Given the description of an element on the screen output the (x, y) to click on. 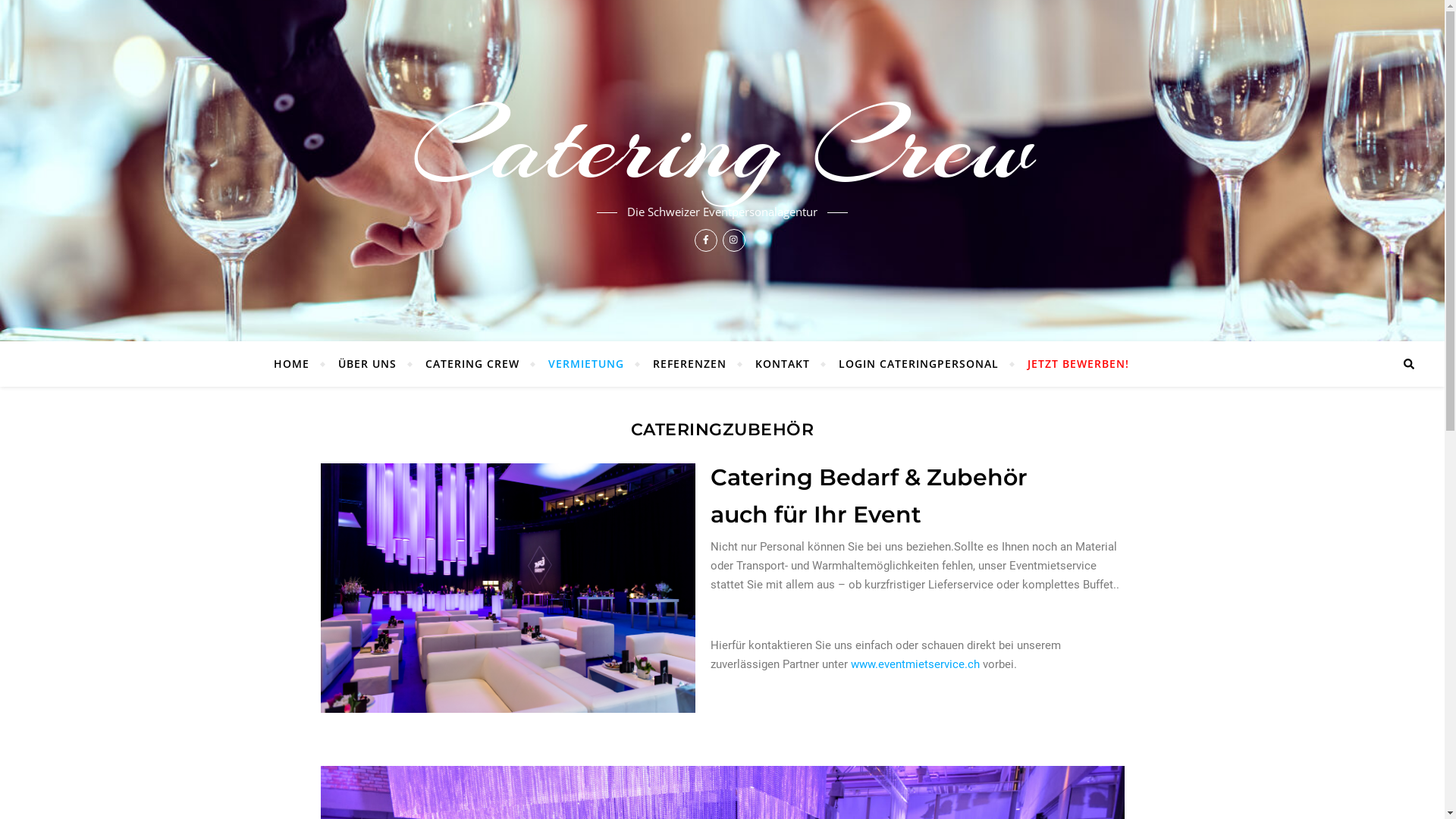
VERMIETUNG Element type: text (586, 363)
KONTAKT Element type: text (782, 363)
HOME Element type: text (297, 363)
CATERING CREW Element type: text (472, 363)
JETZT BEWERBEN! Element type: text (1071, 363)
Catering Crew Element type: text (722, 144)
www.eventmietservice.ch Element type: text (914, 664)
LOGIN CATERINGPERSONAL Element type: text (918, 363)
REFERENZEN Element type: text (689, 363)
